Given the description of an element on the screen output the (x, y) to click on. 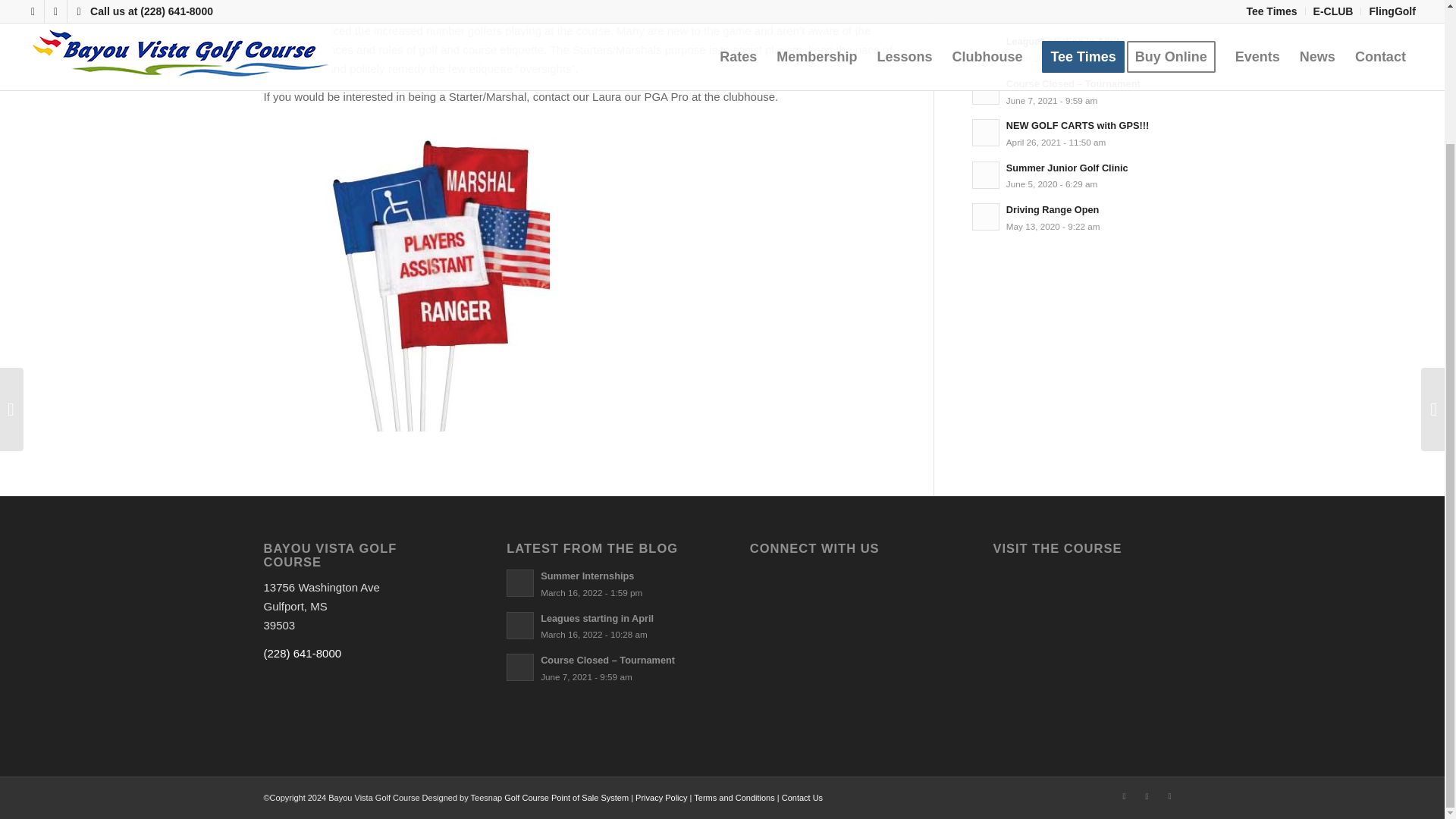
Summer Internships (1076, 132)
NEW GOLF CARTS with GPS!!! (600, 583)
Leagues starting in April (1076, 132)
Summer Junior Golf Clinic (1076, 48)
Driving Range Open (1076, 216)
Golf Course Point of Sale System (1076, 175)
Summer Internships (1076, 48)
